Given the description of an element on the screen output the (x, y) to click on. 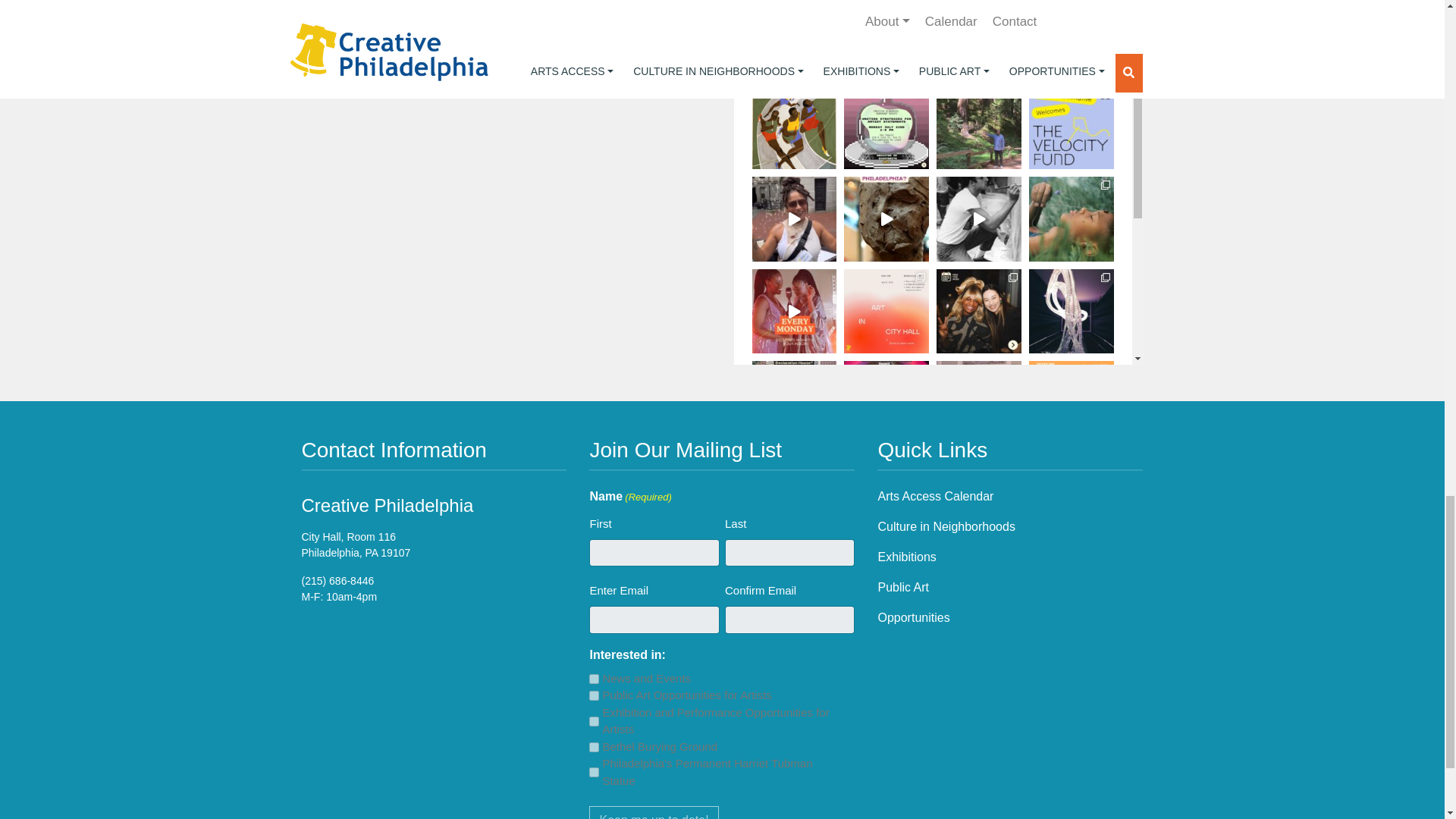
Public Art Opportunities for Artists (593, 696)
Philadelphia's Permanent Harriet Tubman Statue (593, 772)
Exhibition and Performance Opportunities for Artists (593, 721)
News and Events (593, 678)
Bethel Burying Ground (593, 747)
